Given the description of an element on the screen output the (x, y) to click on. 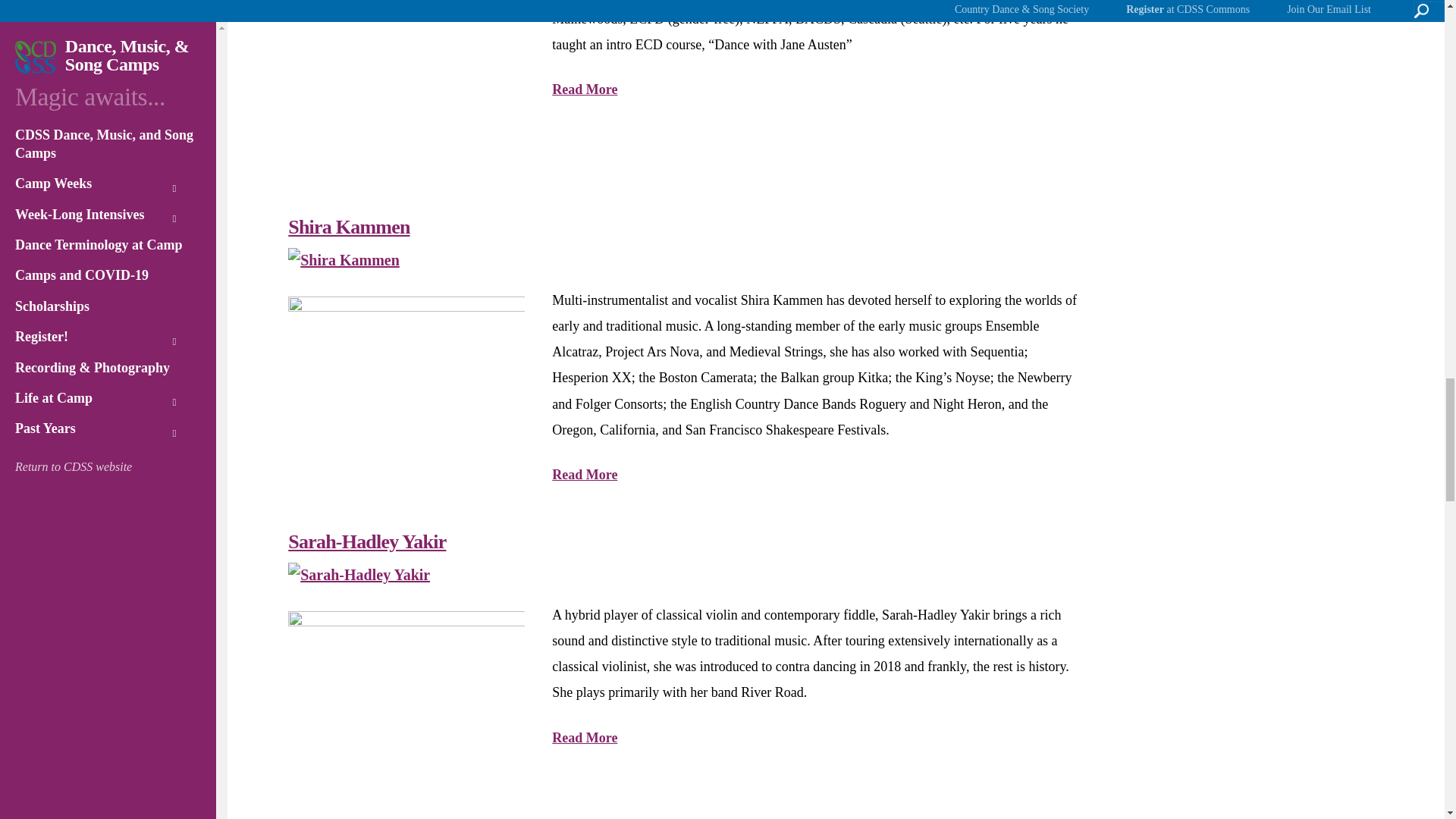
Sarah-Hadley Yakir (358, 574)
Shira Kammen (343, 259)
